Given the description of an element on the screen output the (x, y) to click on. 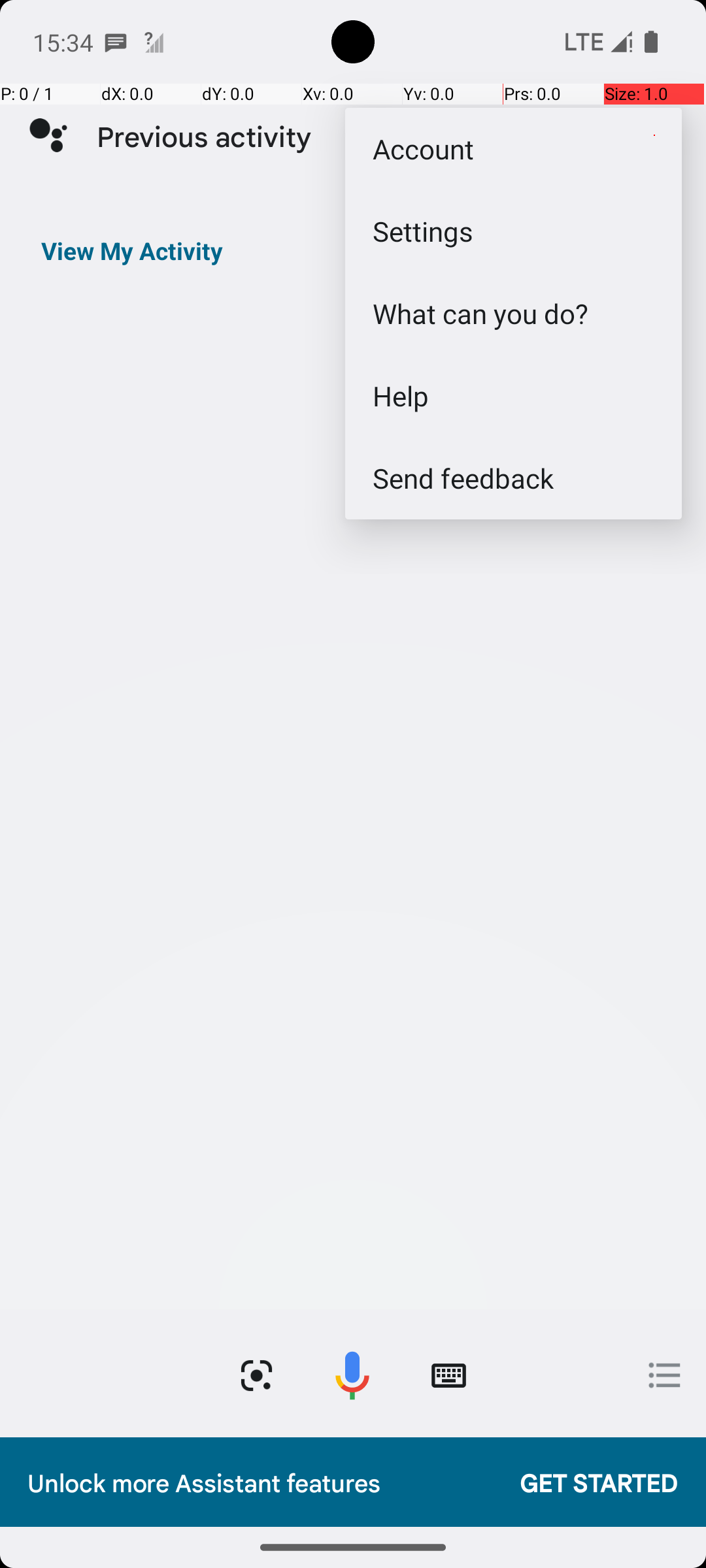
Account Element type: android.widget.TextView (513, 148)
What can you do? Element type: android.widget.TextView (513, 312)
